Given the description of an element on the screen output the (x, y) to click on. 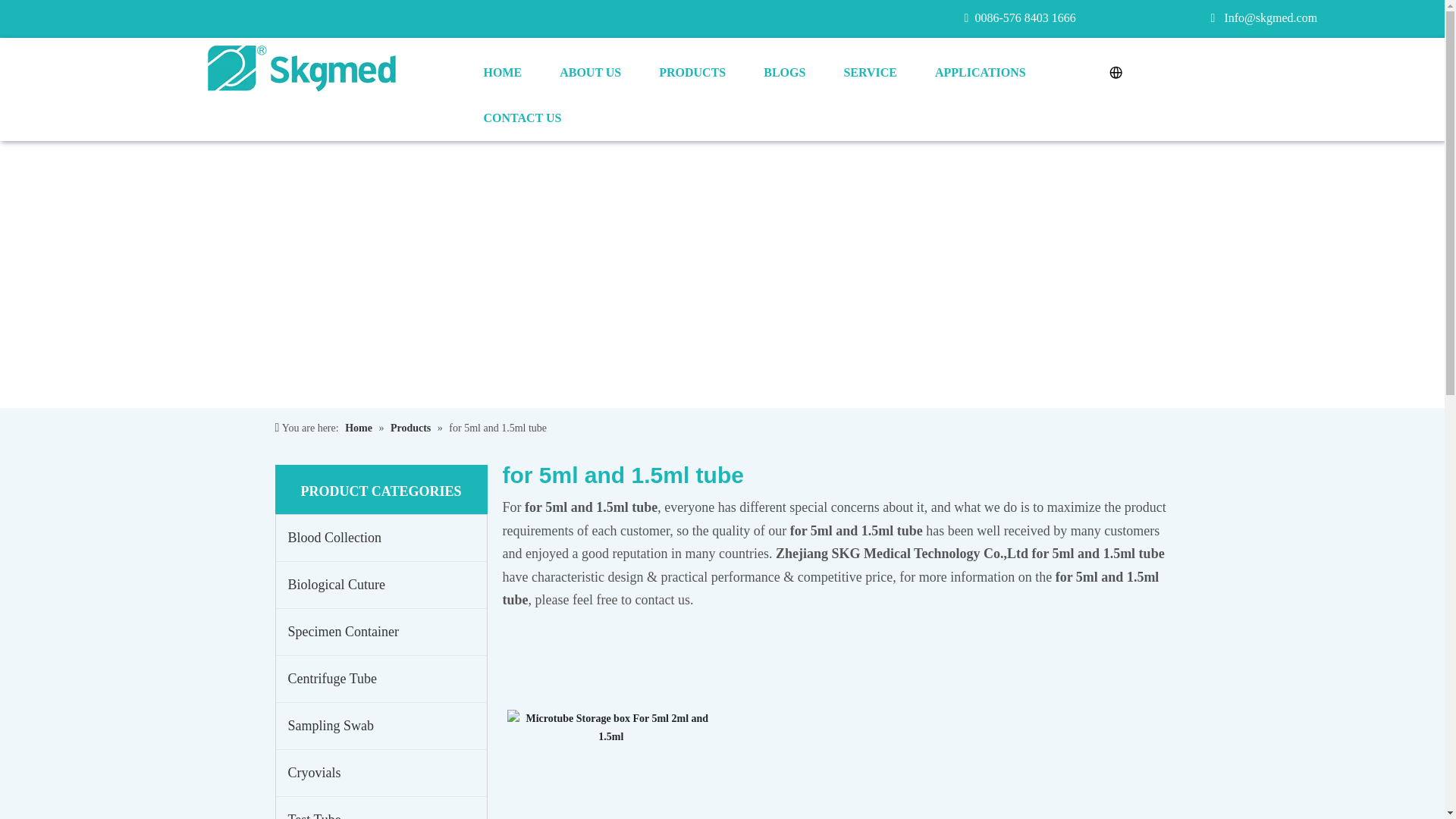
HOME (502, 72)
Specimen Container (381, 632)
ABOUT US (590, 72)
Blood Collection (381, 538)
Biological Cuture (381, 584)
LOGO BLUE (301, 67)
PRODUCTS (692, 72)
